Given the description of an element on the screen output the (x, y) to click on. 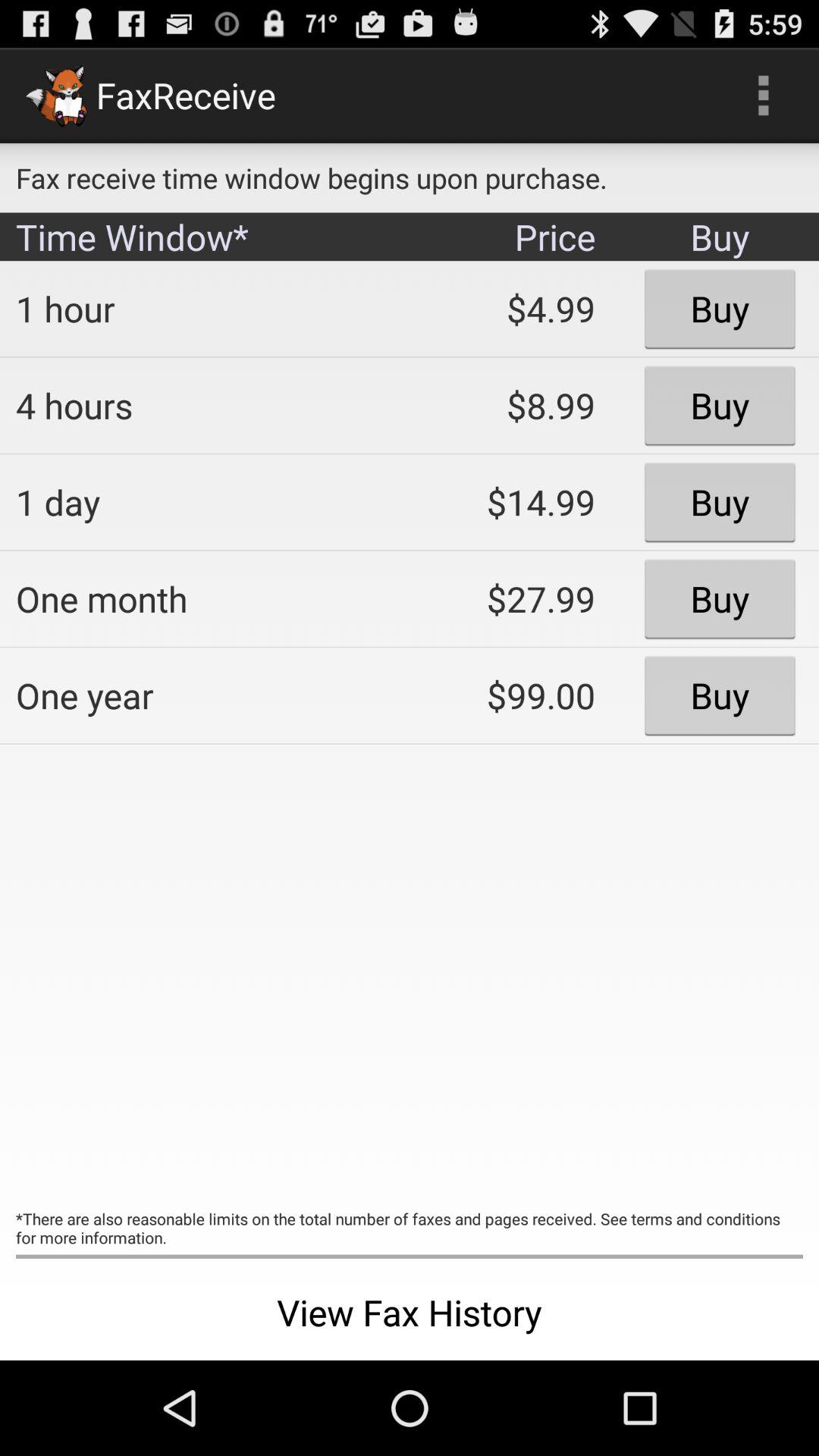
scroll to 4 hours (201, 405)
